Given the description of an element on the screen output the (x, y) to click on. 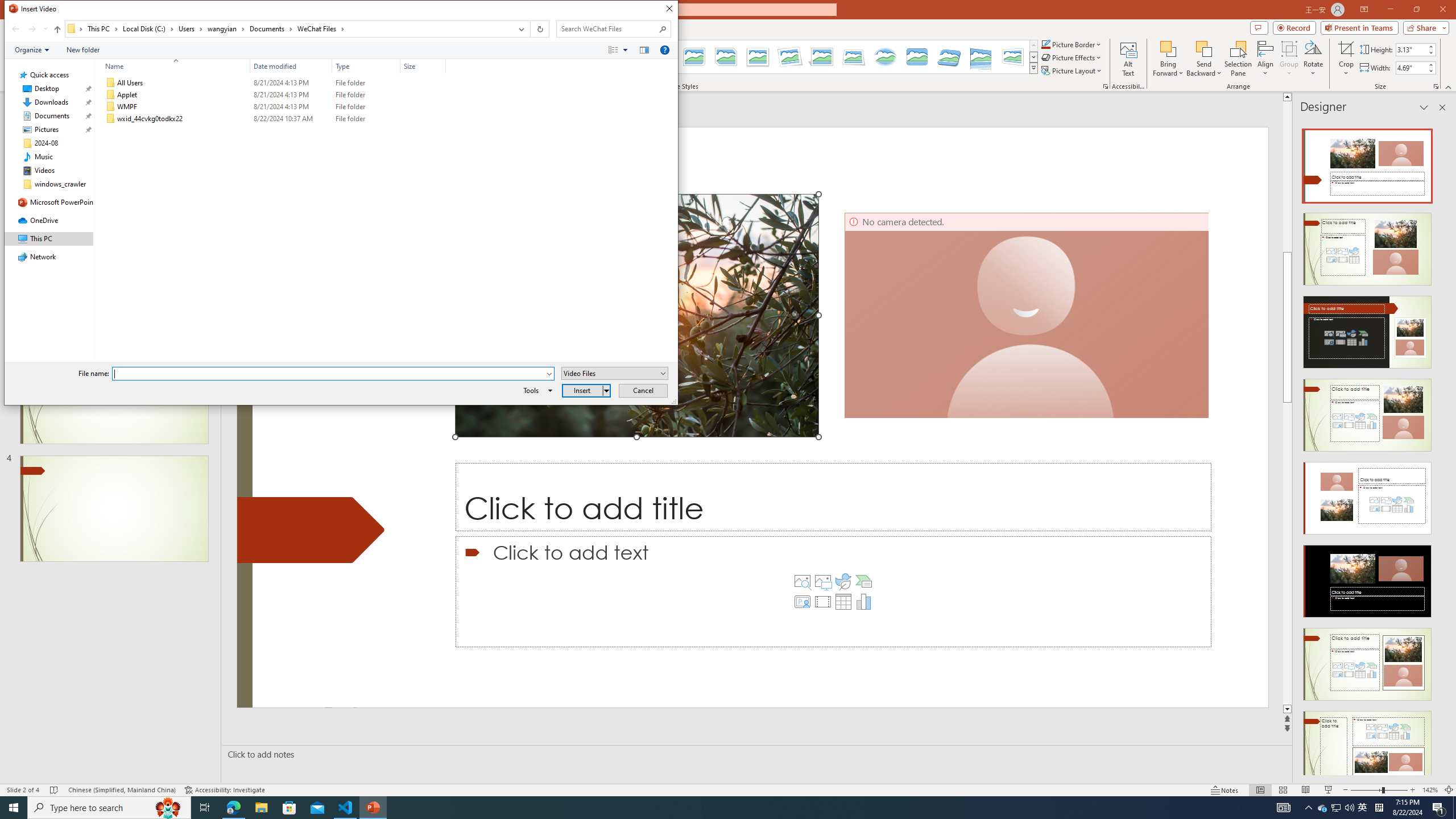
Decorative Locked (310, 530)
Filter dropdown (440, 65)
Size (422, 119)
File name: (329, 373)
Organize (31, 49)
Back (Alt + Left Arrow) (15, 28)
Picture Border Teal, Accent 1 (1045, 44)
Date modified (290, 65)
Relaxed Perspective, White (853, 56)
